Given the description of an element on the screen output the (x, y) to click on. 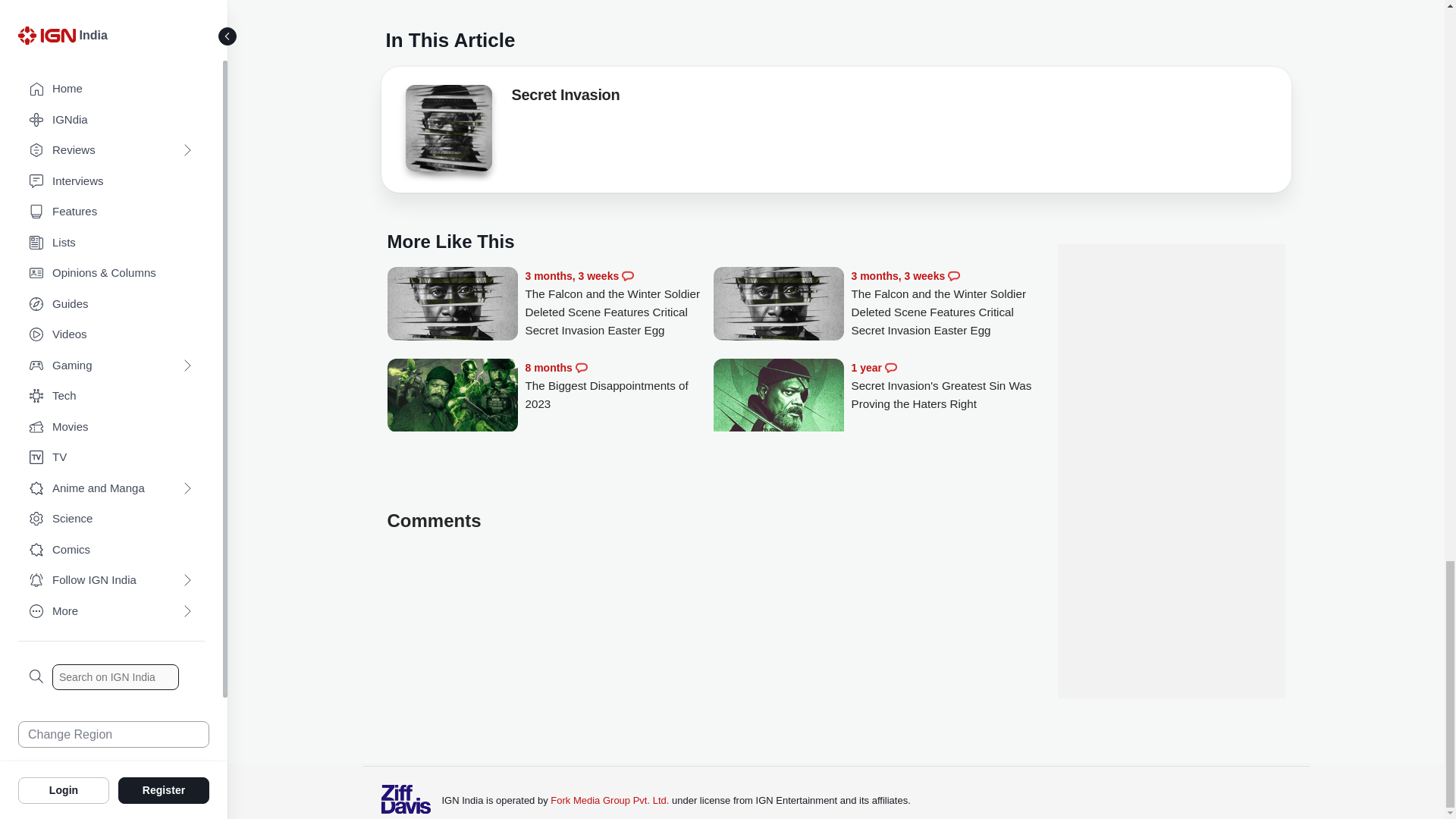
Secret Invasion (448, 128)
The Biggest Disappointments of 2023 (451, 396)
Secret Invasion's Greatest Sin Was Proving the Haters Right (778, 425)
Secret Invasion (565, 97)
The Biggest Disappointments of 2023 (618, 386)
Secret Invasion (448, 132)
